Given the description of an element on the screen output the (x, y) to click on. 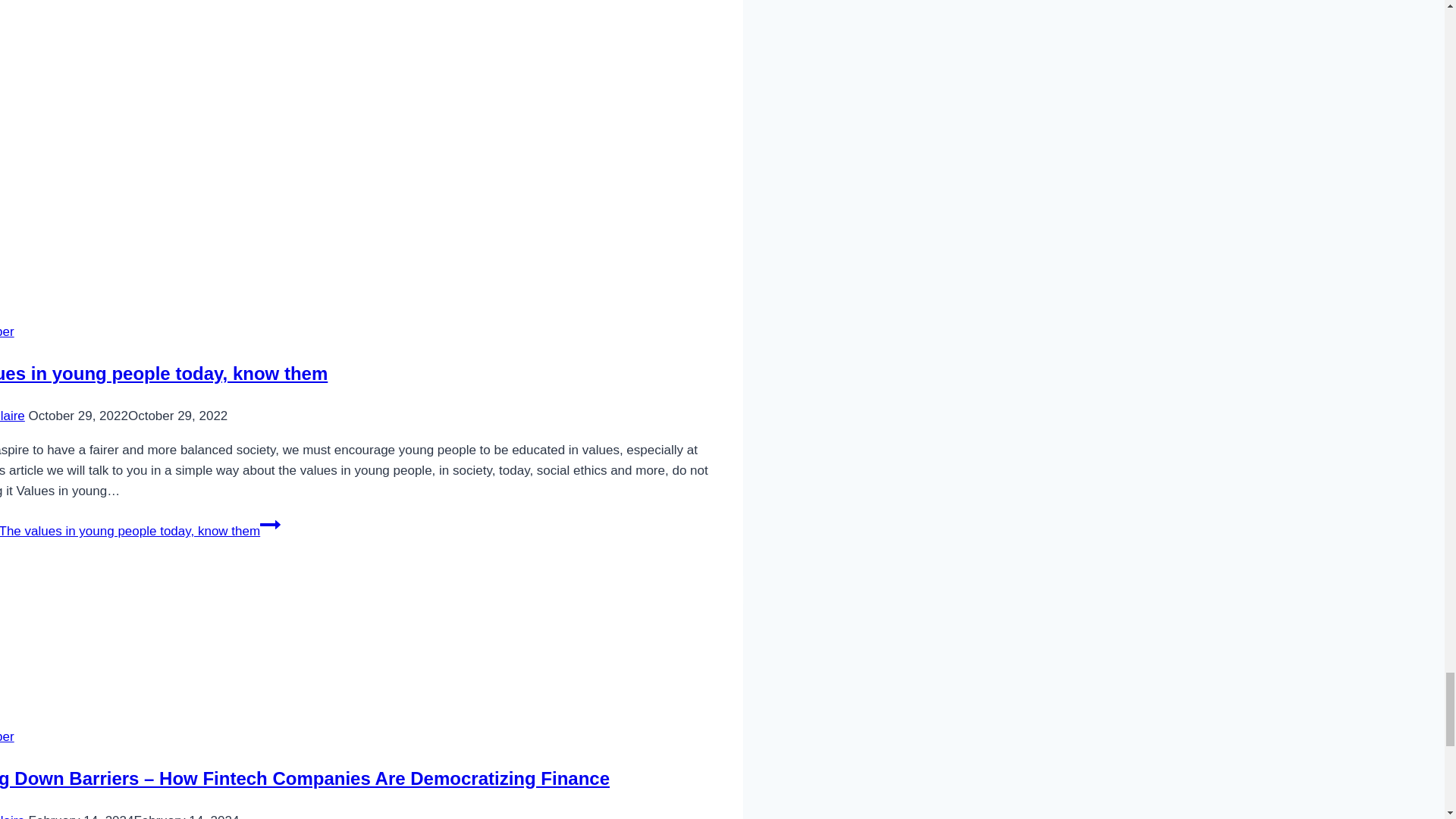
Continue (270, 524)
The values in young people today, know them (163, 373)
Angel Number (7, 331)
Kelly D Claire (12, 415)
